Given the description of an element on the screen output the (x, y) to click on. 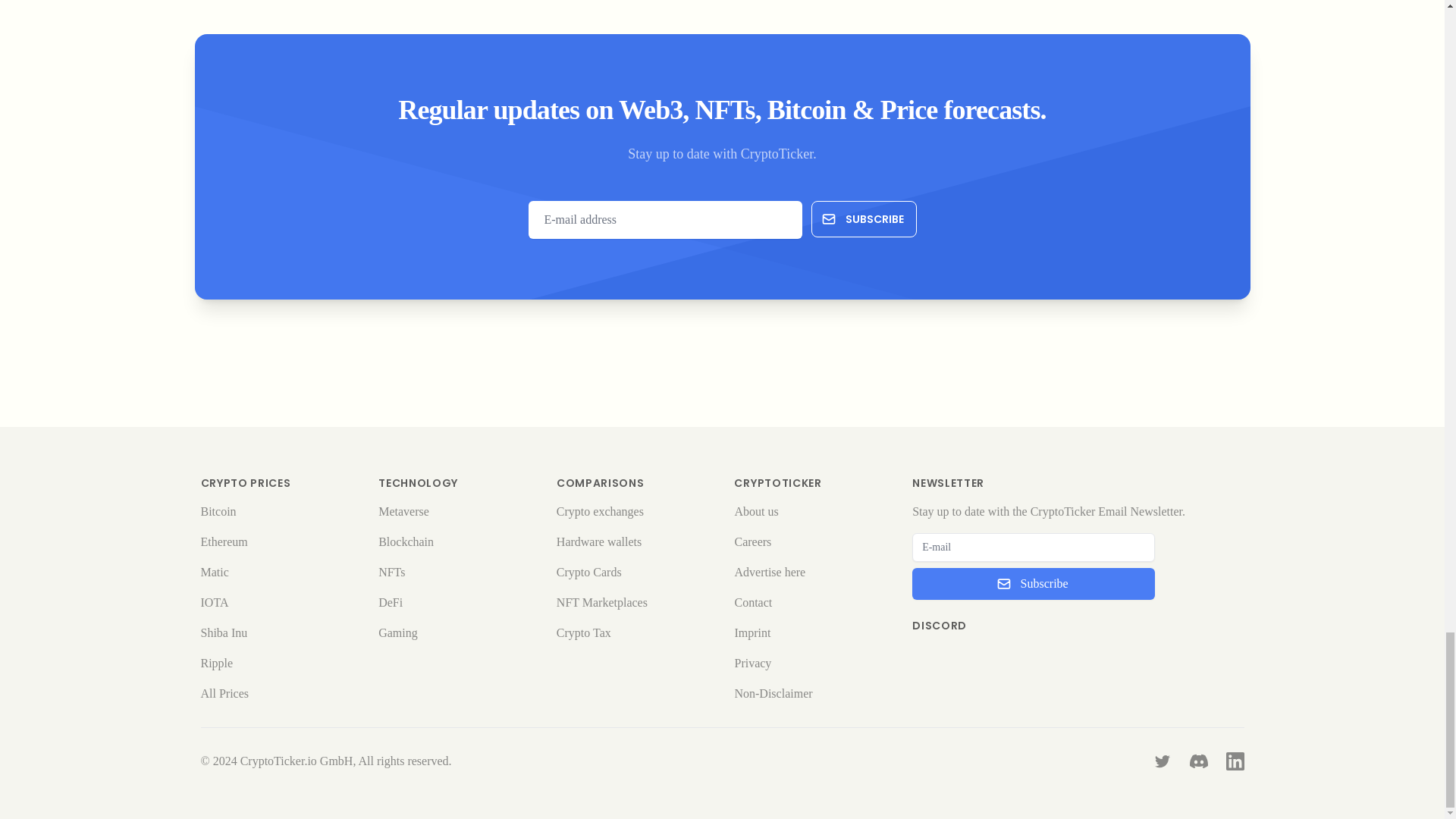
SUBSCRIBE (863, 218)
Matic (214, 571)
Ripple (216, 662)
Ethereum (223, 541)
IOTA (214, 602)
Bitcoin (217, 511)
Shiba Inu (223, 632)
All Prices (224, 693)
Metaverse (403, 511)
